Given the description of an element on the screen output the (x, y) to click on. 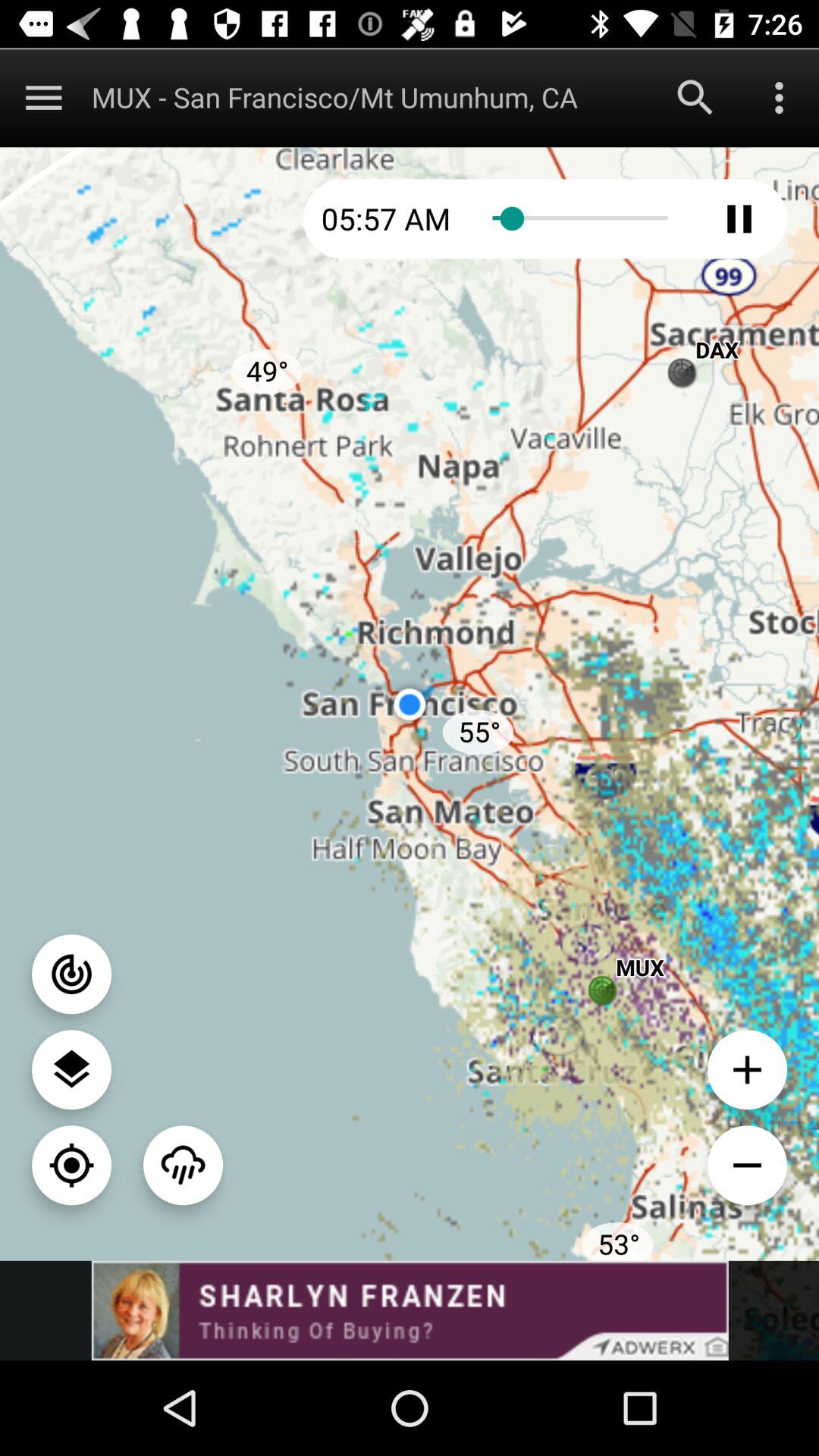
pinpoint location (71, 1165)
